Given the description of an element on the screen output the (x, y) to click on. 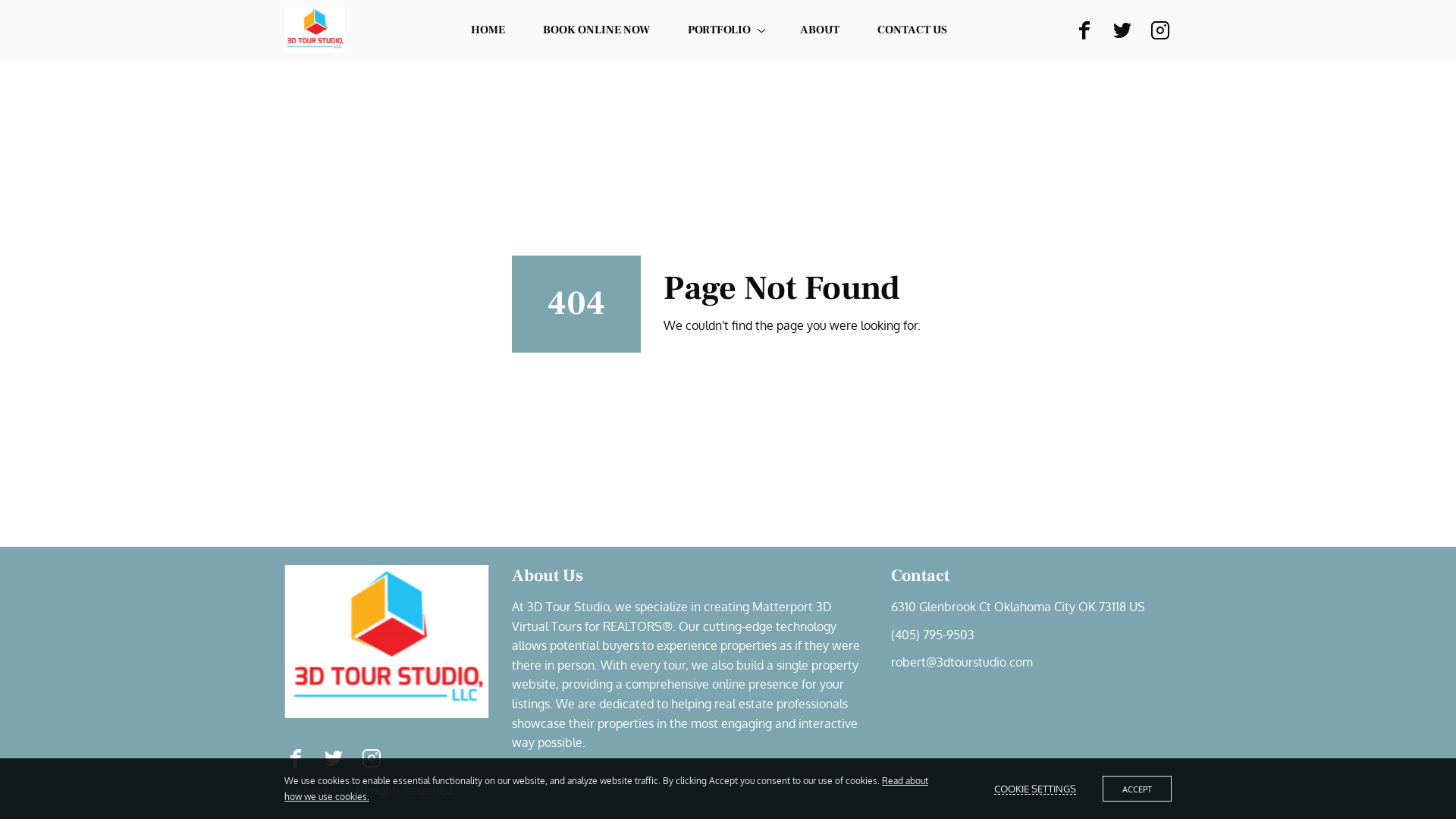
COOKIE SETTINGS Element type: text (1035, 788)
BOOK ONLINE NOW Element type: text (596, 29)
CONTACT US Element type: text (912, 29)
ABOUT Element type: text (819, 29)
Read about how we use cookies. Element type: text (606, 788)
(405) 795-9503 Element type: text (932, 635)
PORTFOLIO Element type: text (724, 29)
ACCEPT Element type: text (1136, 788)
HOME Element type: text (487, 29)
